Given the description of an element on the screen output the (x, y) to click on. 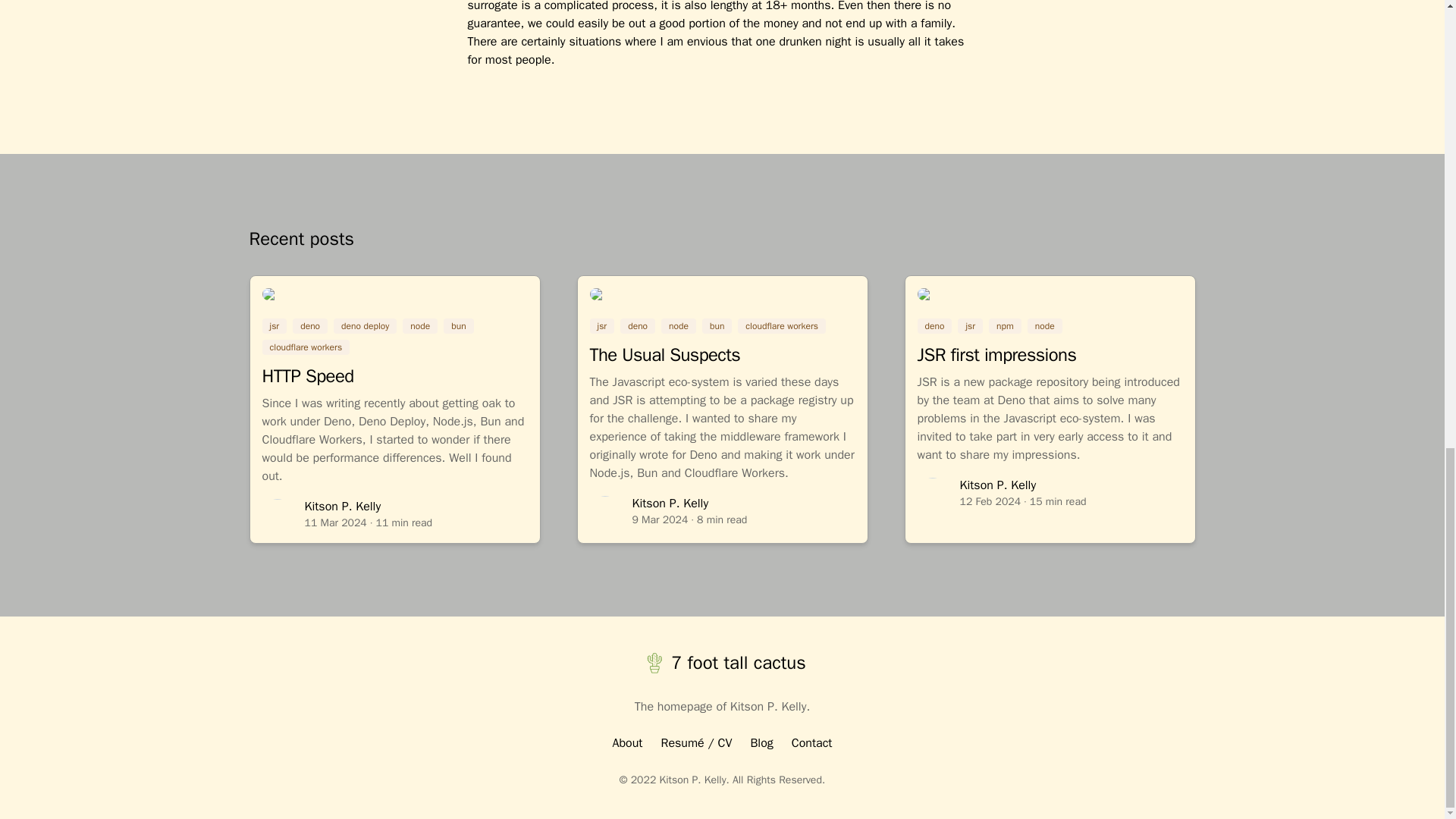
About (627, 743)
JSR first impressions (997, 354)
7 foot tall cactus (721, 663)
Blog (761, 743)
The Usual Suspects (665, 354)
Contact (812, 743)
HTTP Speed (307, 375)
